Given the description of an element on the screen output the (x, y) to click on. 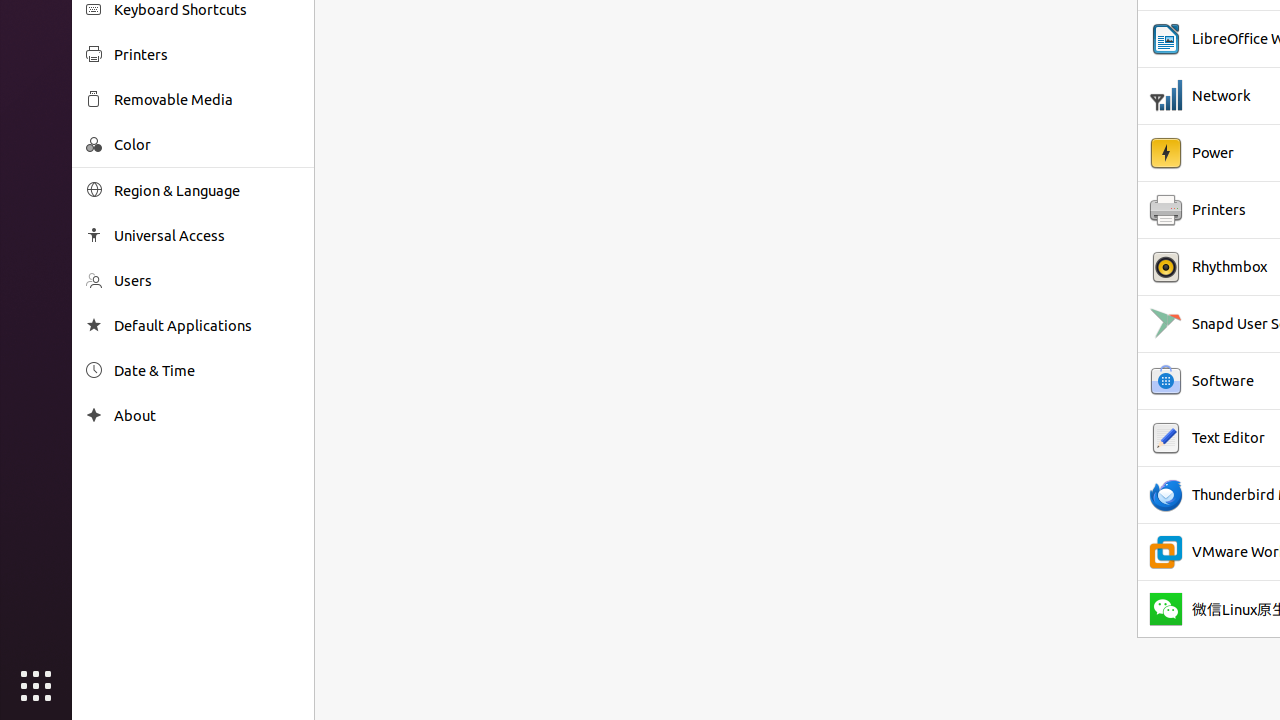
Text Editor Element type: label (1228, 438)
Default Applications Element type: label (207, 325)
Date & Time Element type: label (207, 370)
Color Element type: label (207, 144)
